Given the description of an element on the screen output the (x, y) to click on. 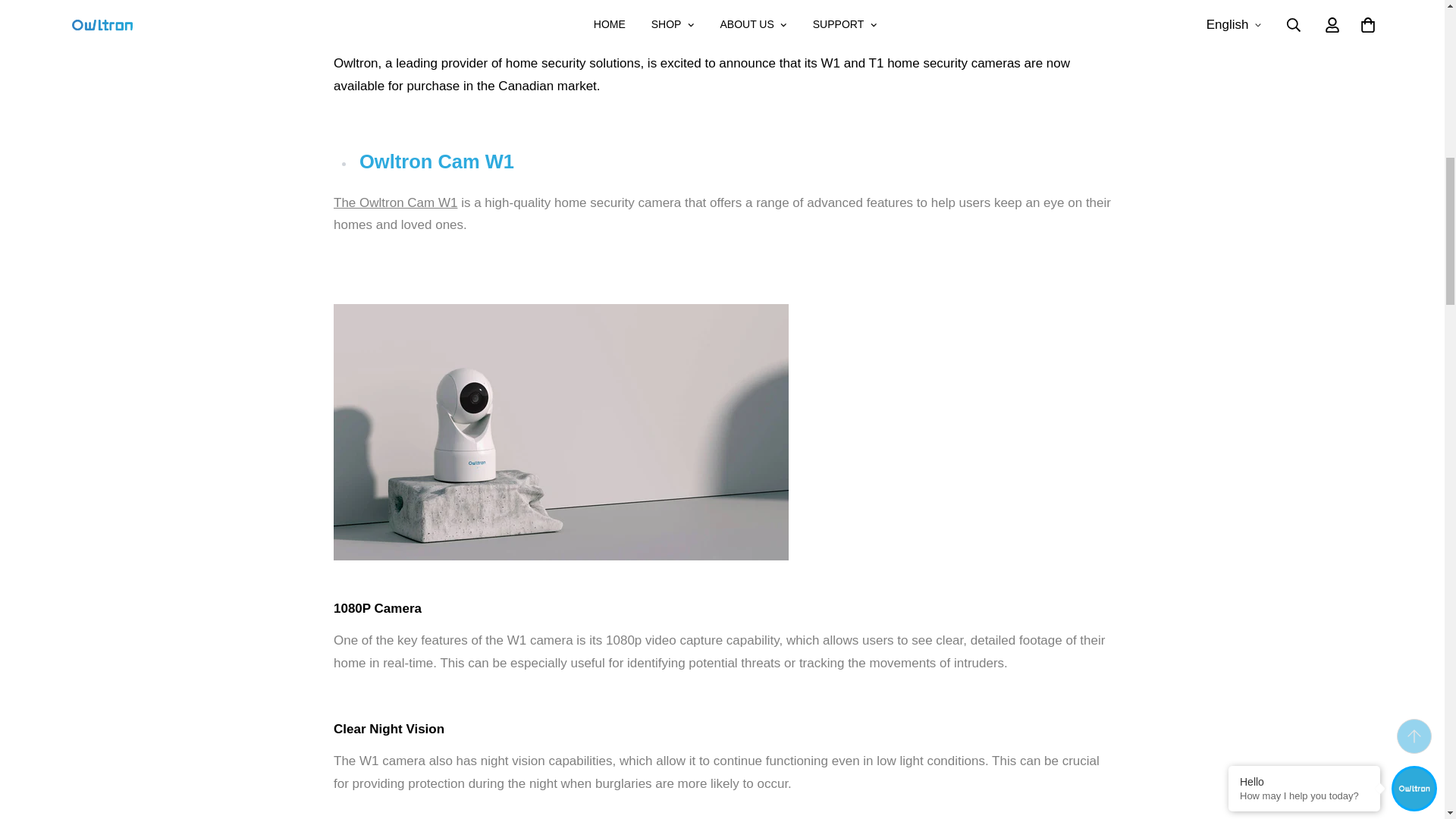
Owltron Cam W1  (561, 431)
Owltron Cam T1 for Canada (395, 202)
